Given the description of an element on the screen output the (x, y) to click on. 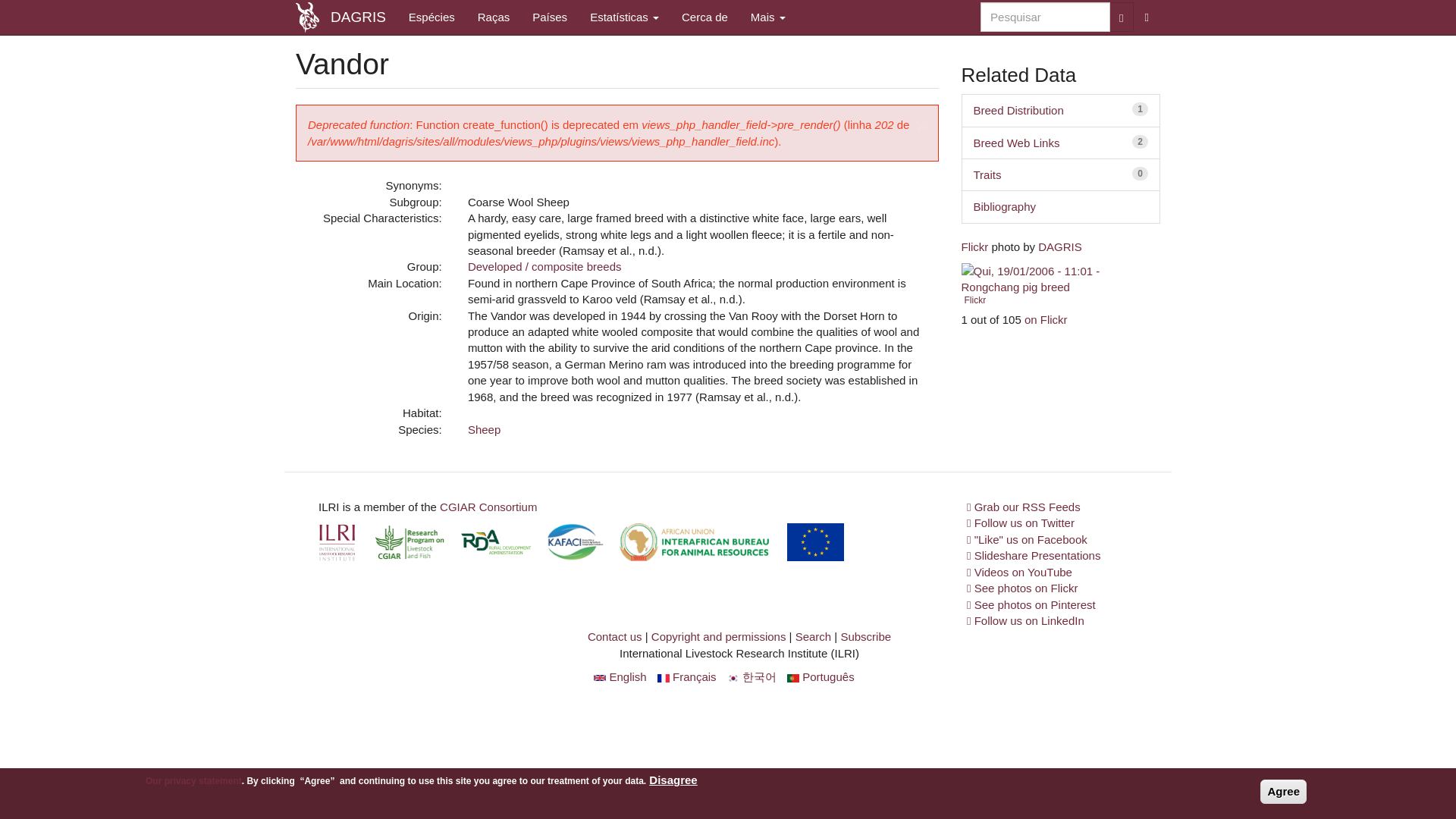
Mais (767, 17)
on Flickr (1016, 142)
External links to related resources. (1046, 318)
Introduza os termos pelos quais pretende pesquisar. (767, 17)
Sheep (1044, 16)
CGIAR Consortium (483, 429)
DAGRIS (488, 506)
Flickr (1059, 246)
Cerca de (974, 246)
